Given the description of an element on the screen output the (x, y) to click on. 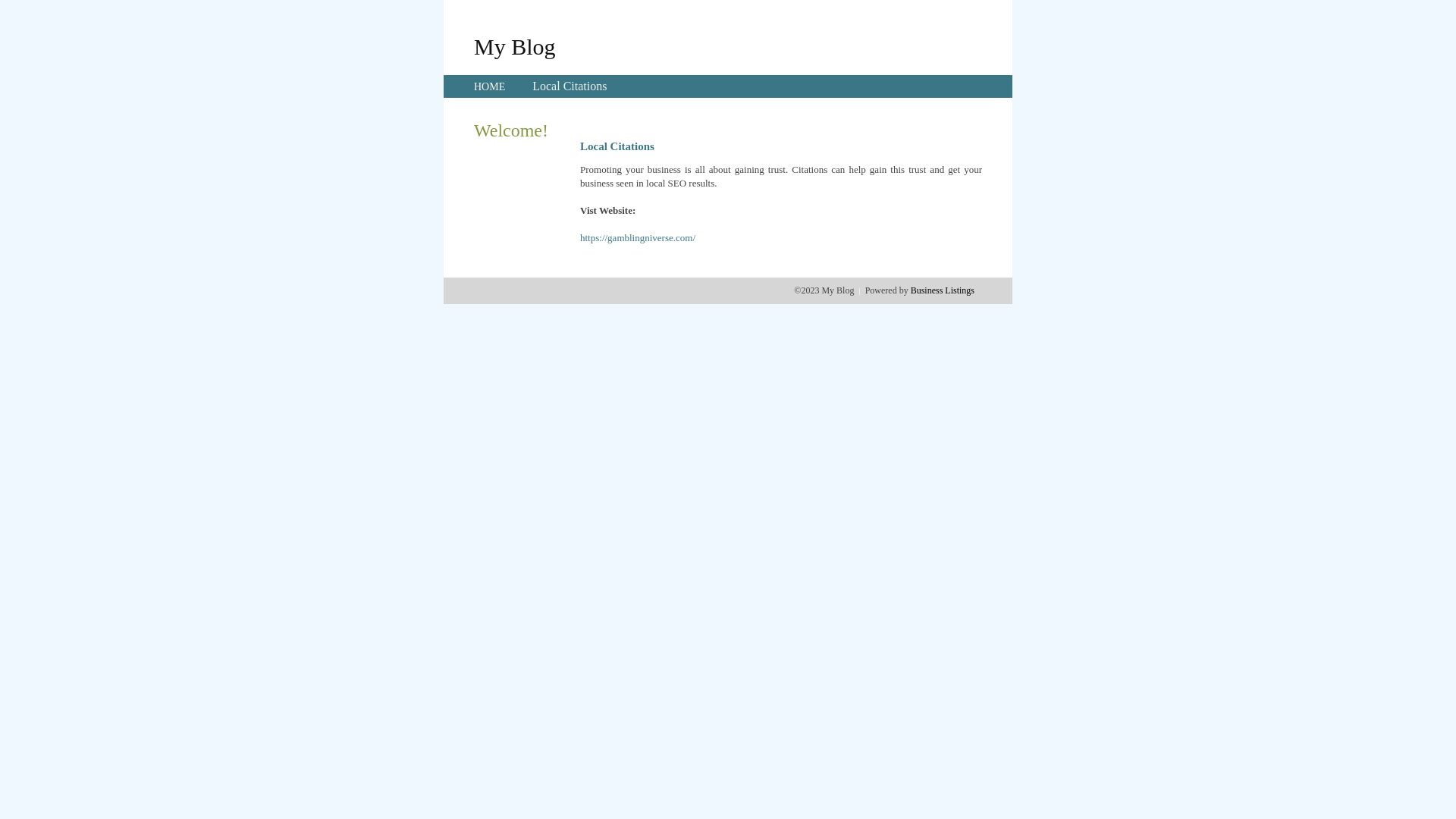
Local Citations Element type: text (569, 85)
My Blog Element type: text (514, 46)
HOME Element type: text (489, 86)
Business Listings Element type: text (942, 290)
https://gamblingniverse.com/ Element type: text (637, 237)
